Given the description of an element on the screen output the (x, y) to click on. 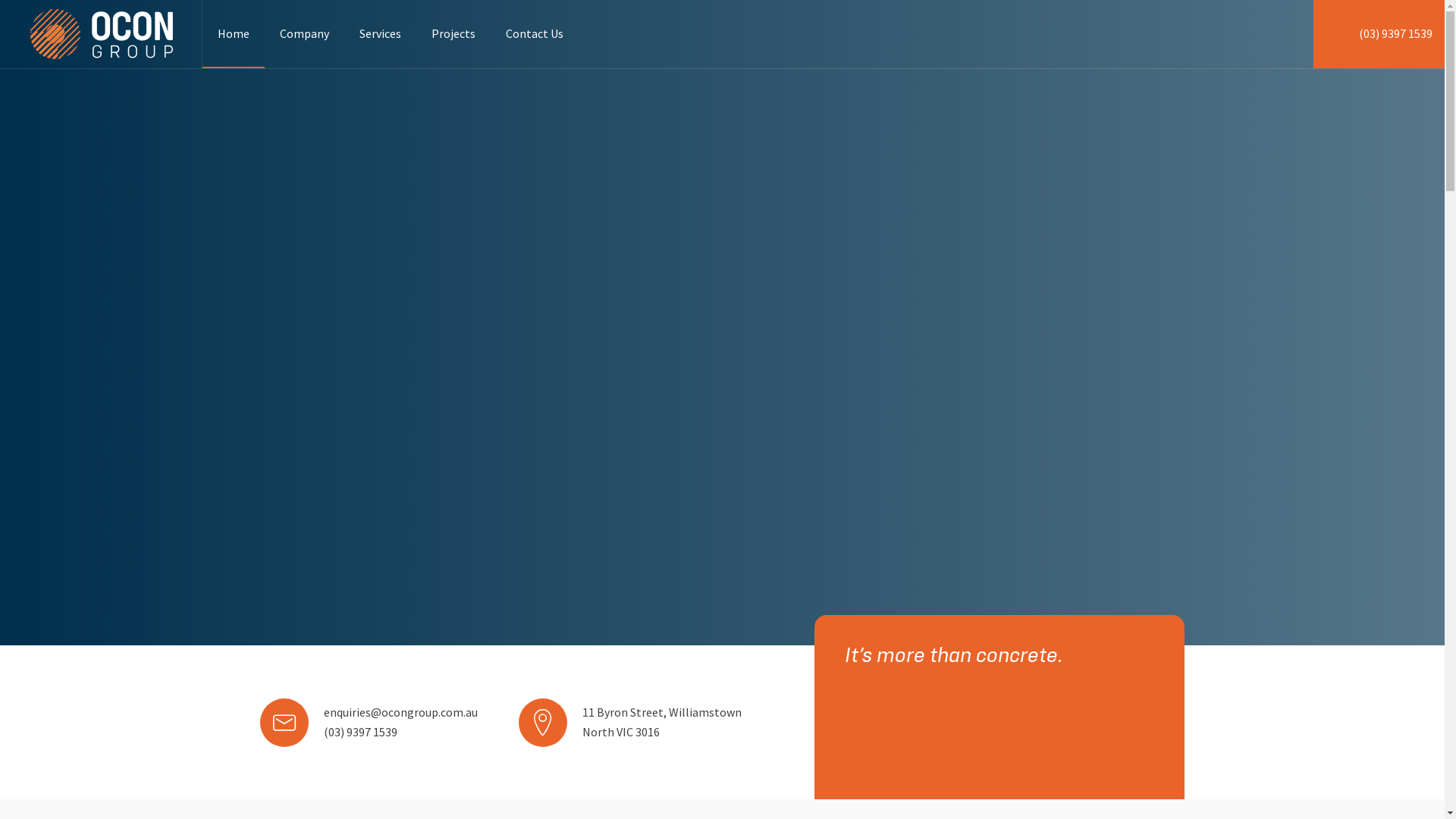
Services Element type: text (380, 33)
Company Element type: text (304, 33)
Contact Us Element type: text (534, 33)
Home Element type: text (233, 33)
Projects Element type: text (453, 33)
(03) 9397 1539 Element type: text (1378, 34)
